Given the description of an element on the screen output the (x, y) to click on. 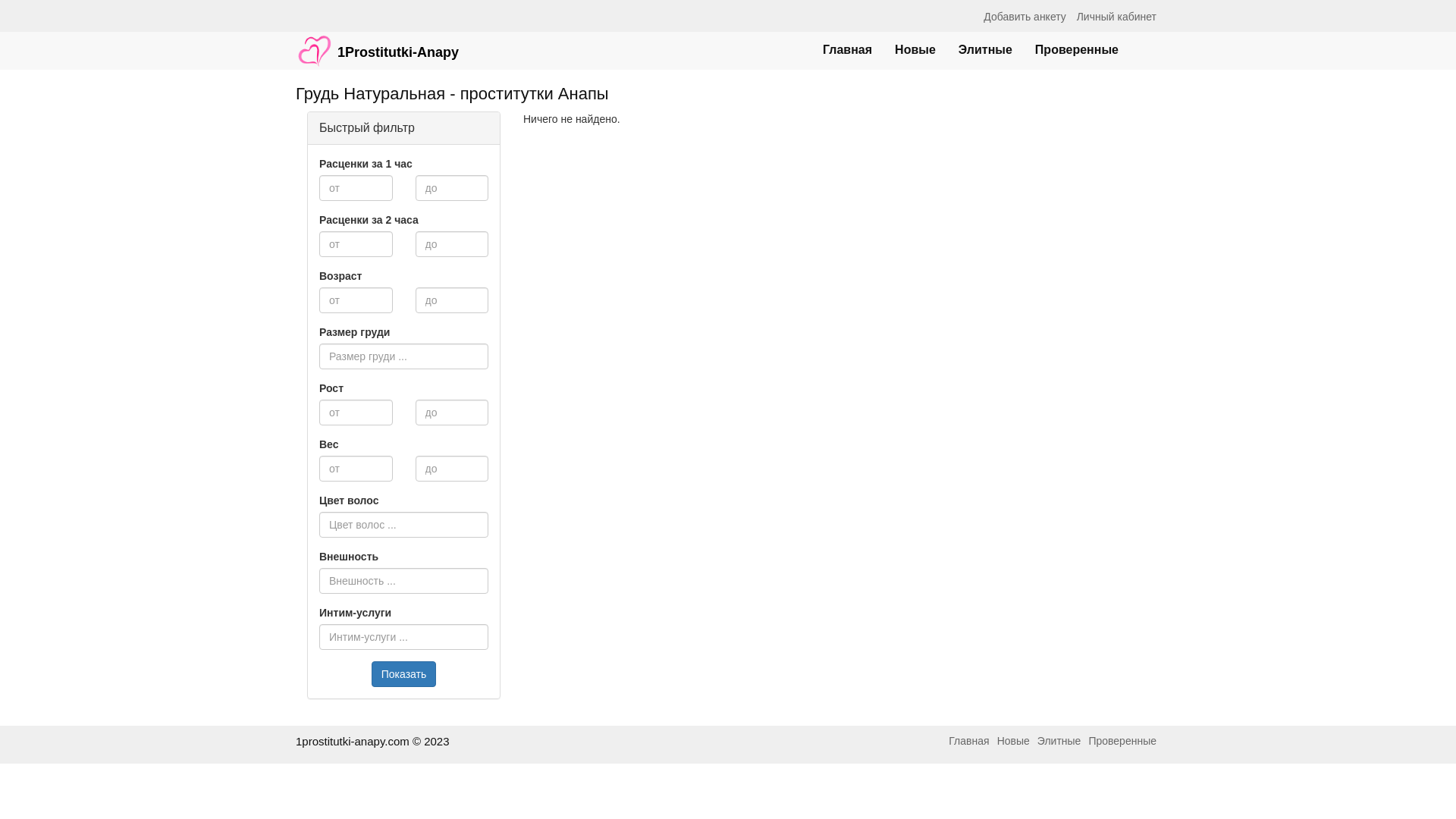
1Prostitutki-Anapy Element type: text (377, 43)
